Given the description of an element on the screen output the (x, y) to click on. 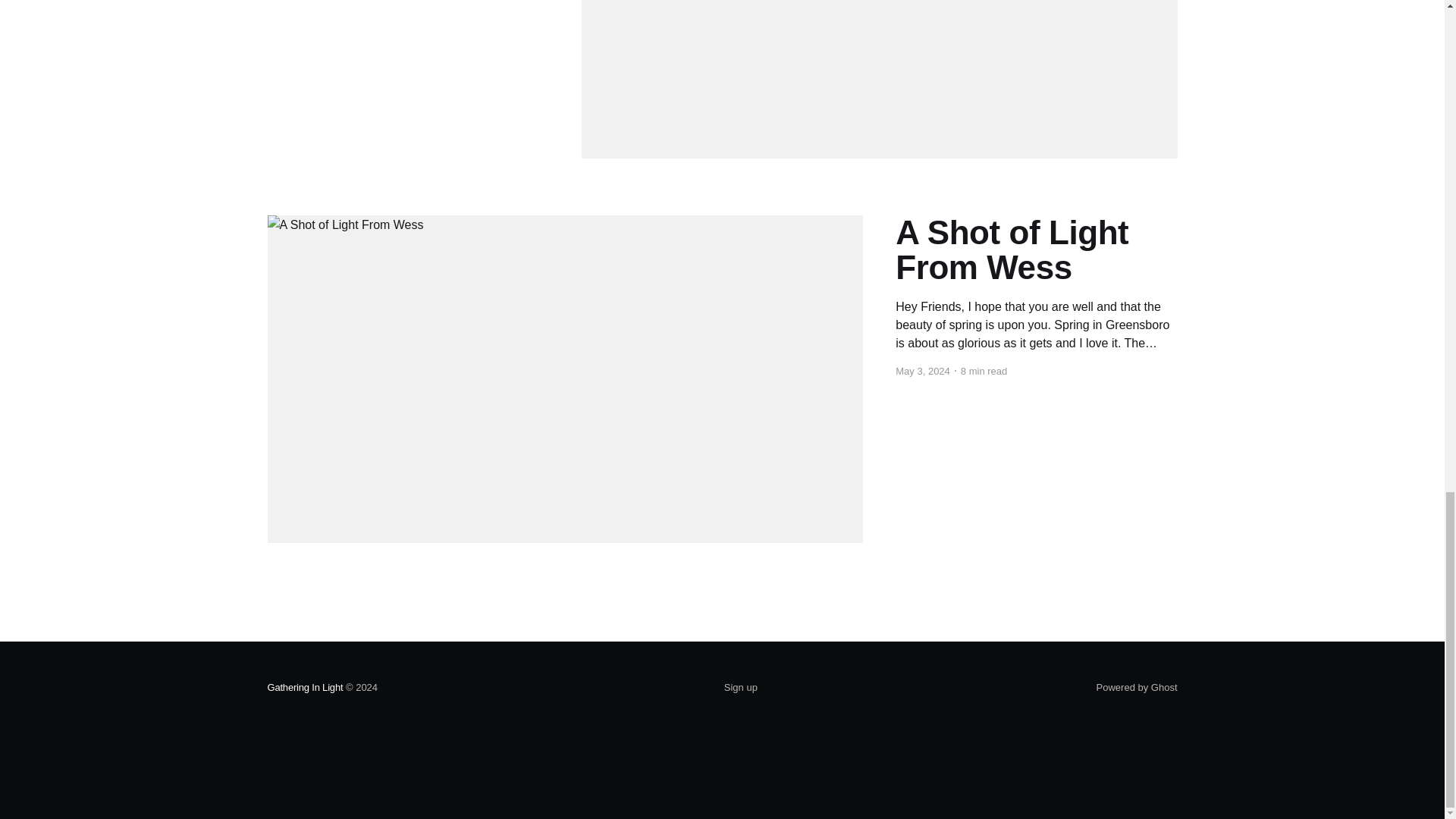
Gathering In Light (304, 686)
Sign up (740, 687)
Powered by Ghost (1136, 686)
